Given the description of an element on the screen output the (x, y) to click on. 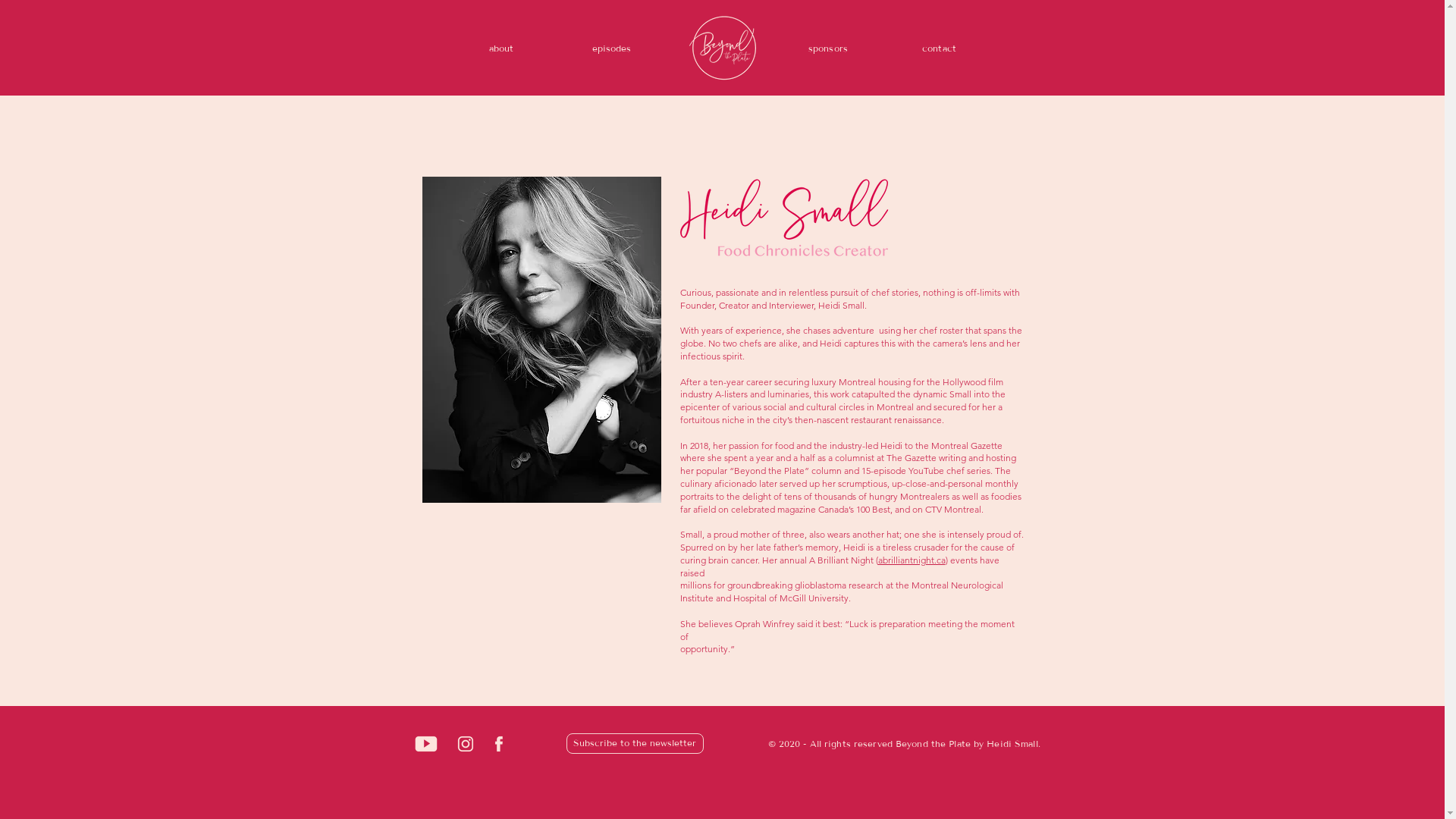
abrilliantnight.ca Element type: text (911, 559)
Subscribe to the newsletter Element type: text (633, 743)
episodes Element type: text (611, 47)
contact Element type: text (939, 47)
sponsors Element type: text (827, 47)
about Element type: text (500, 47)
